Given the description of an element on the screen output the (x, y) to click on. 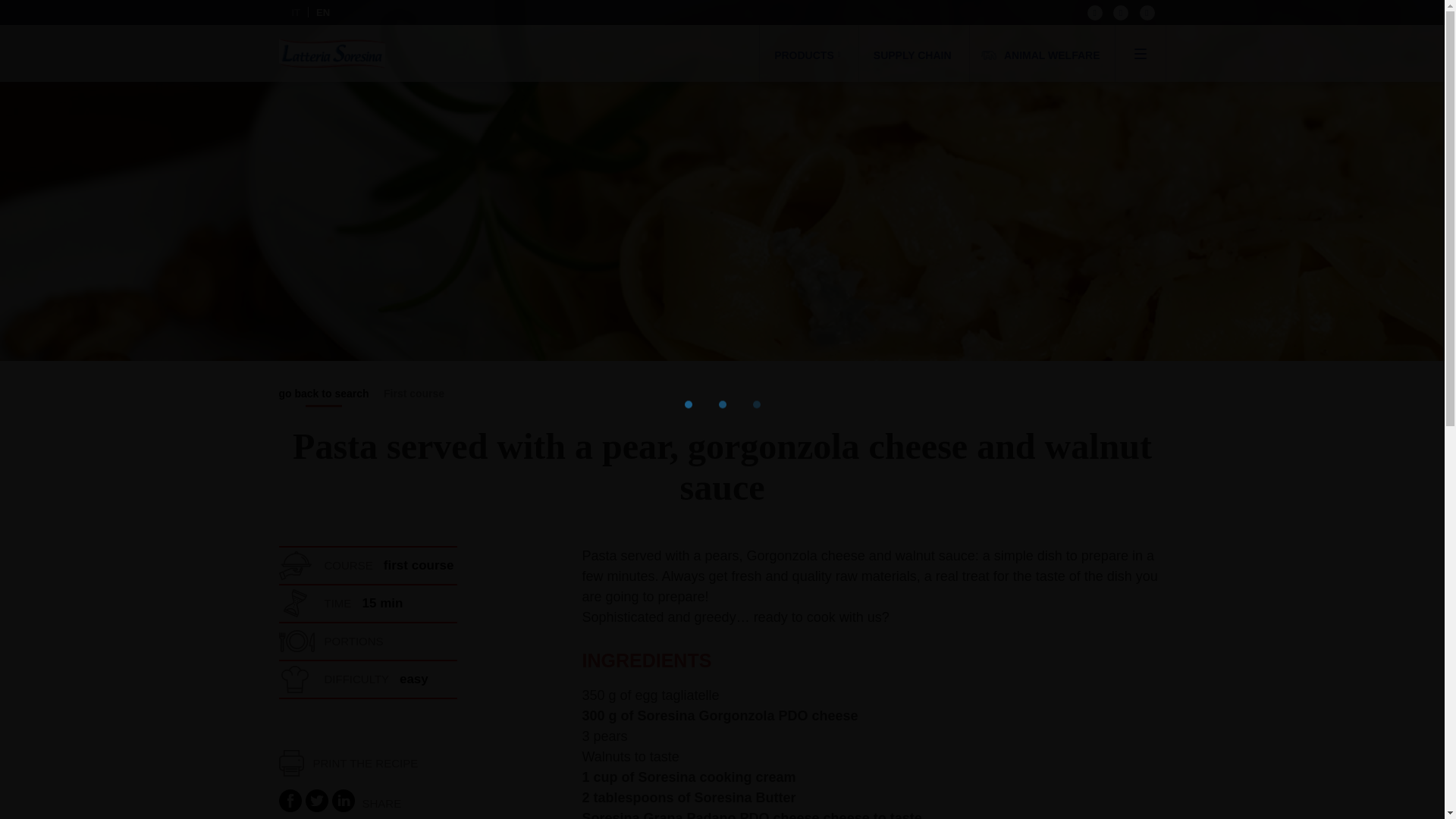
IT (295, 11)
ANIMAL WELFARE (1042, 53)
go back to search (324, 397)
PRINT THE RECIPE (349, 763)
PRODUCTS (807, 53)
SUPPLY CHAIN (912, 53)
Toggle navigation (1139, 53)
First course (414, 397)
EN (322, 11)
